Given the description of an element on the screen output the (x, y) to click on. 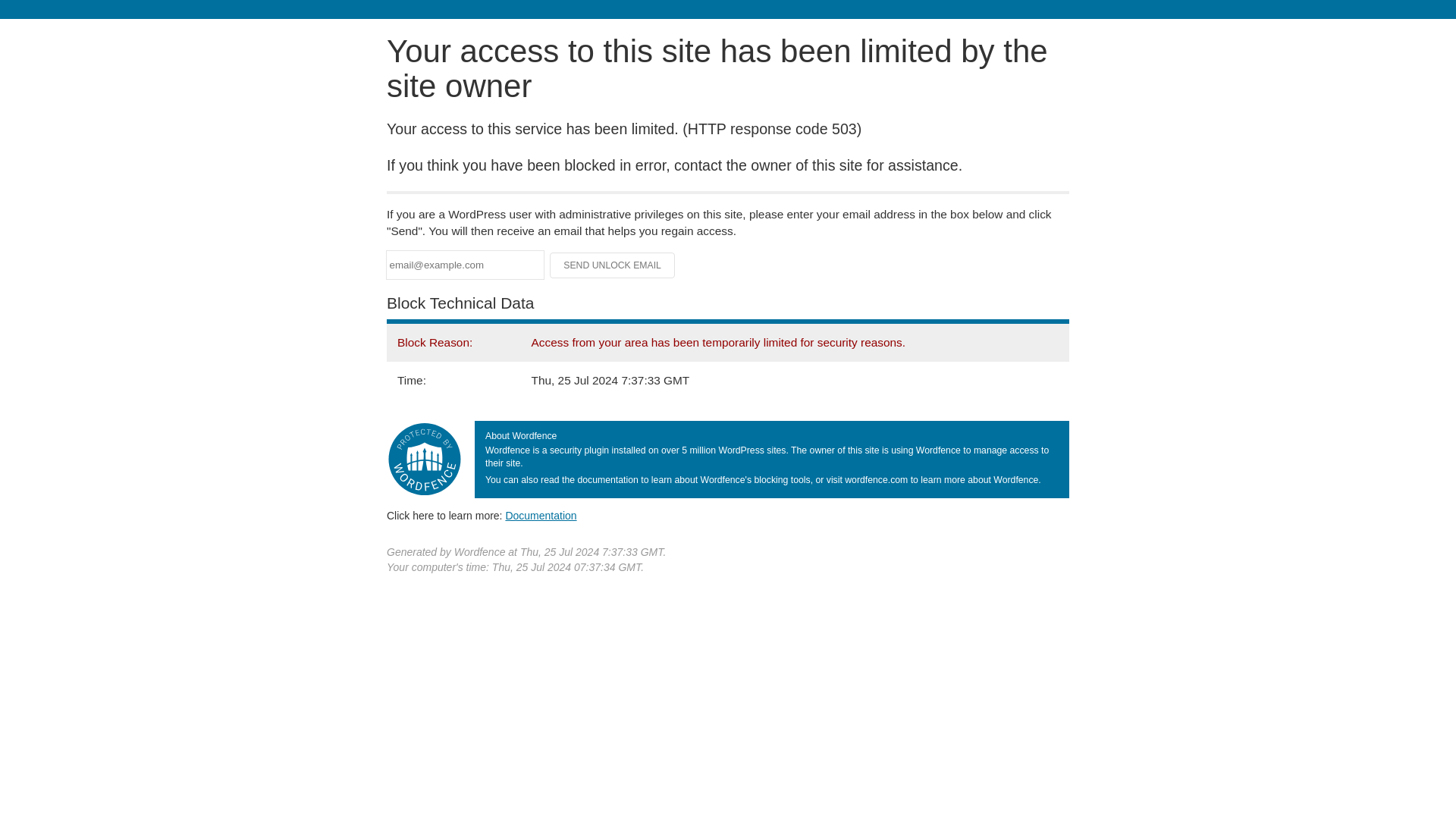
Send Unlock Email (612, 265)
Send Unlock Email (612, 265)
Documentation (540, 515)
